Given the description of an element on the screen output the (x, y) to click on. 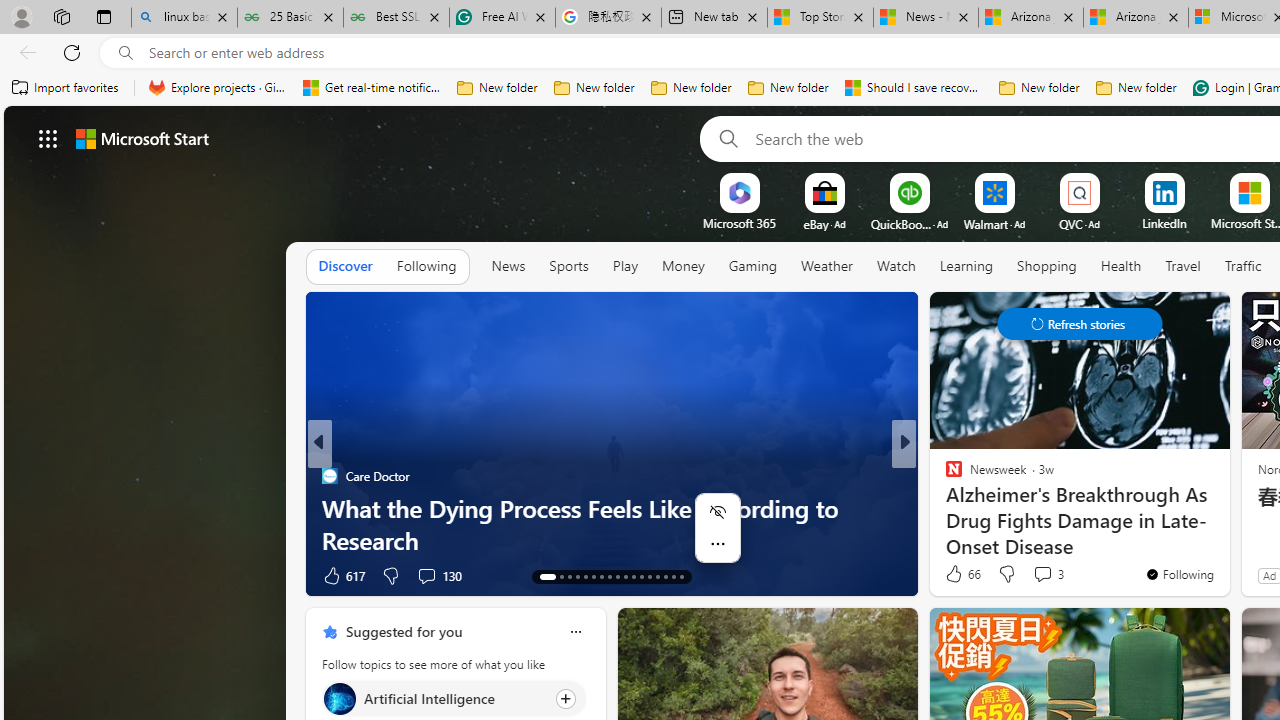
Class: control (1079, 323)
oceanbluemarine (982, 507)
Shopping (1046, 267)
66 Like (961, 574)
News - MSN (925, 17)
Eco Hugo (944, 475)
PC World (944, 475)
View comments 137 Comment (1036, 575)
Learning (966, 267)
80 Like (956, 574)
